Given the description of an element on the screen output the (x, y) to click on. 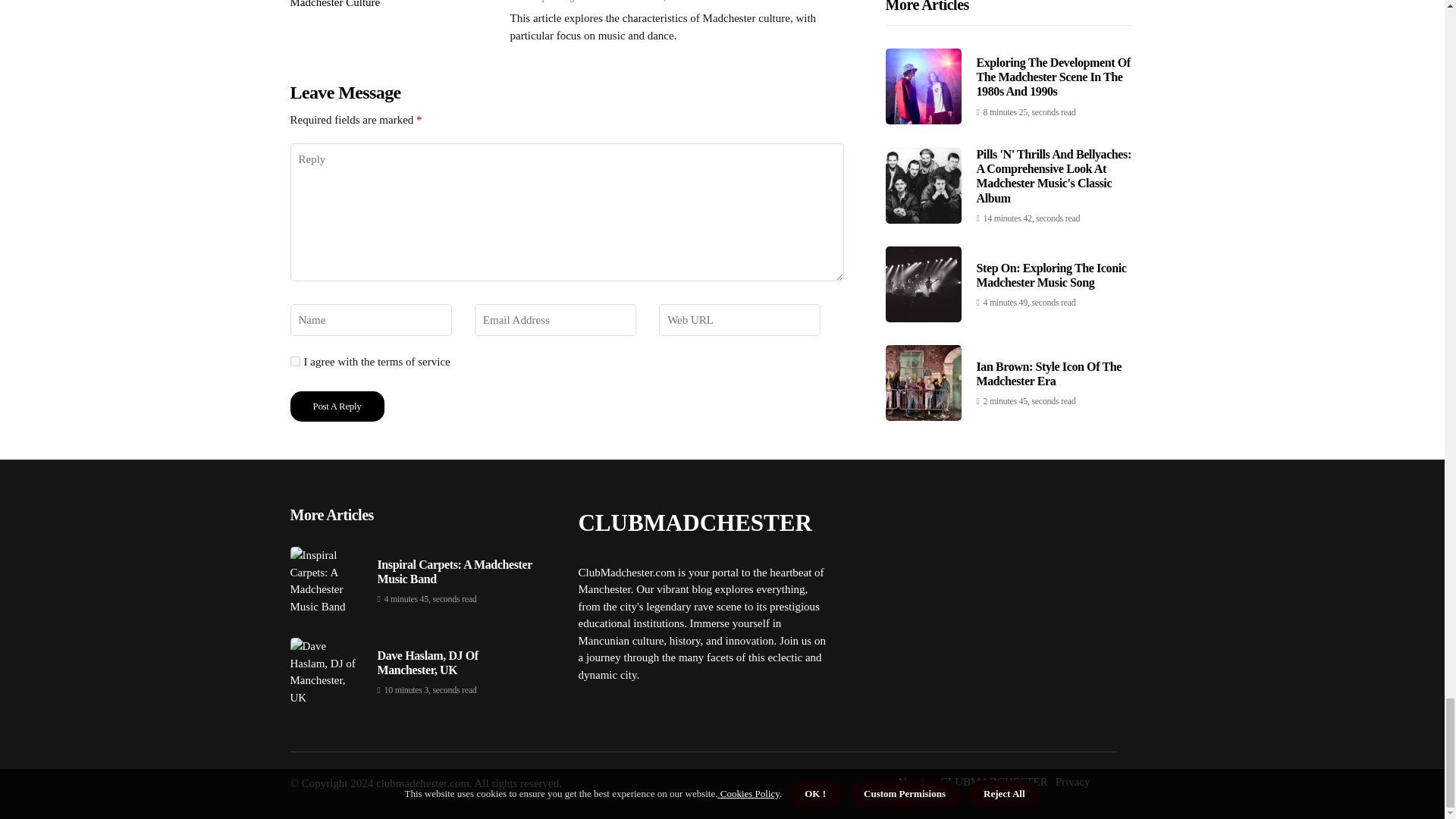
Posts by Christopher Bugelsteiber (559, 1)
Post a Reply (336, 406)
yes (294, 361)
